Given the description of an element on the screen output the (x, y) to click on. 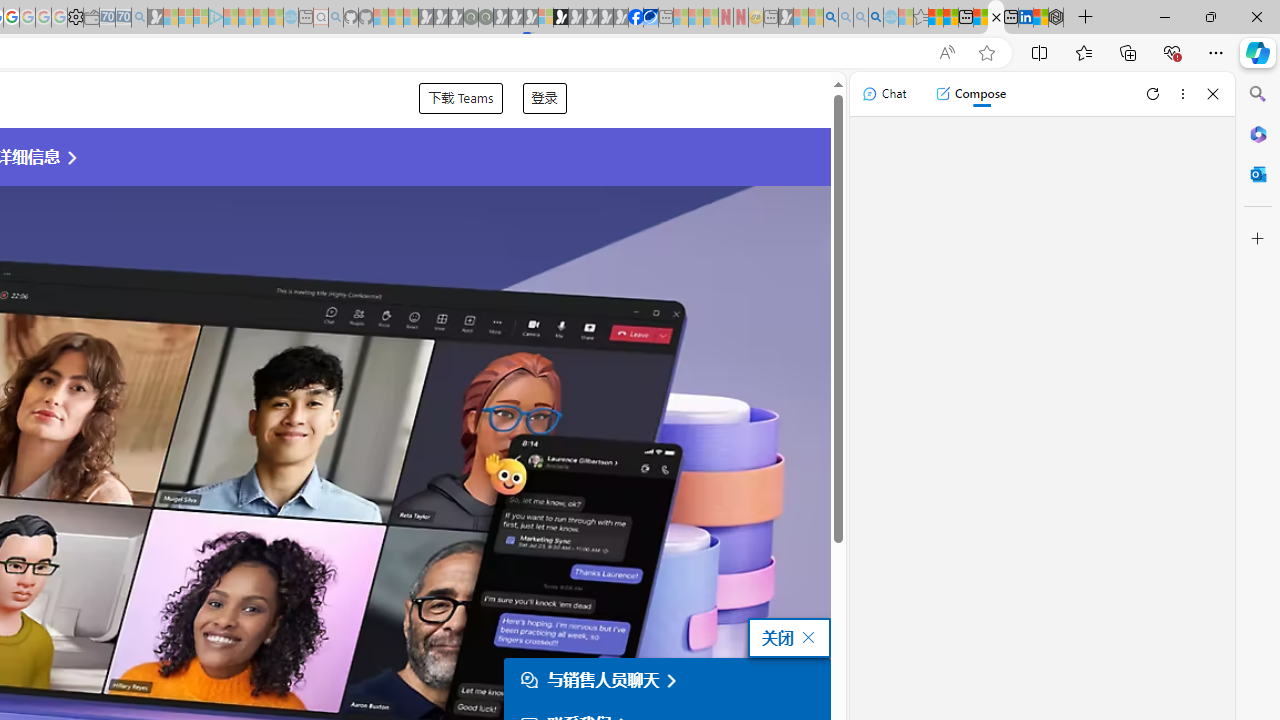
github - Search - Sleeping (336, 17)
Nordace | Facebook (635, 17)
